Given the description of an element on the screen output the (x, y) to click on. 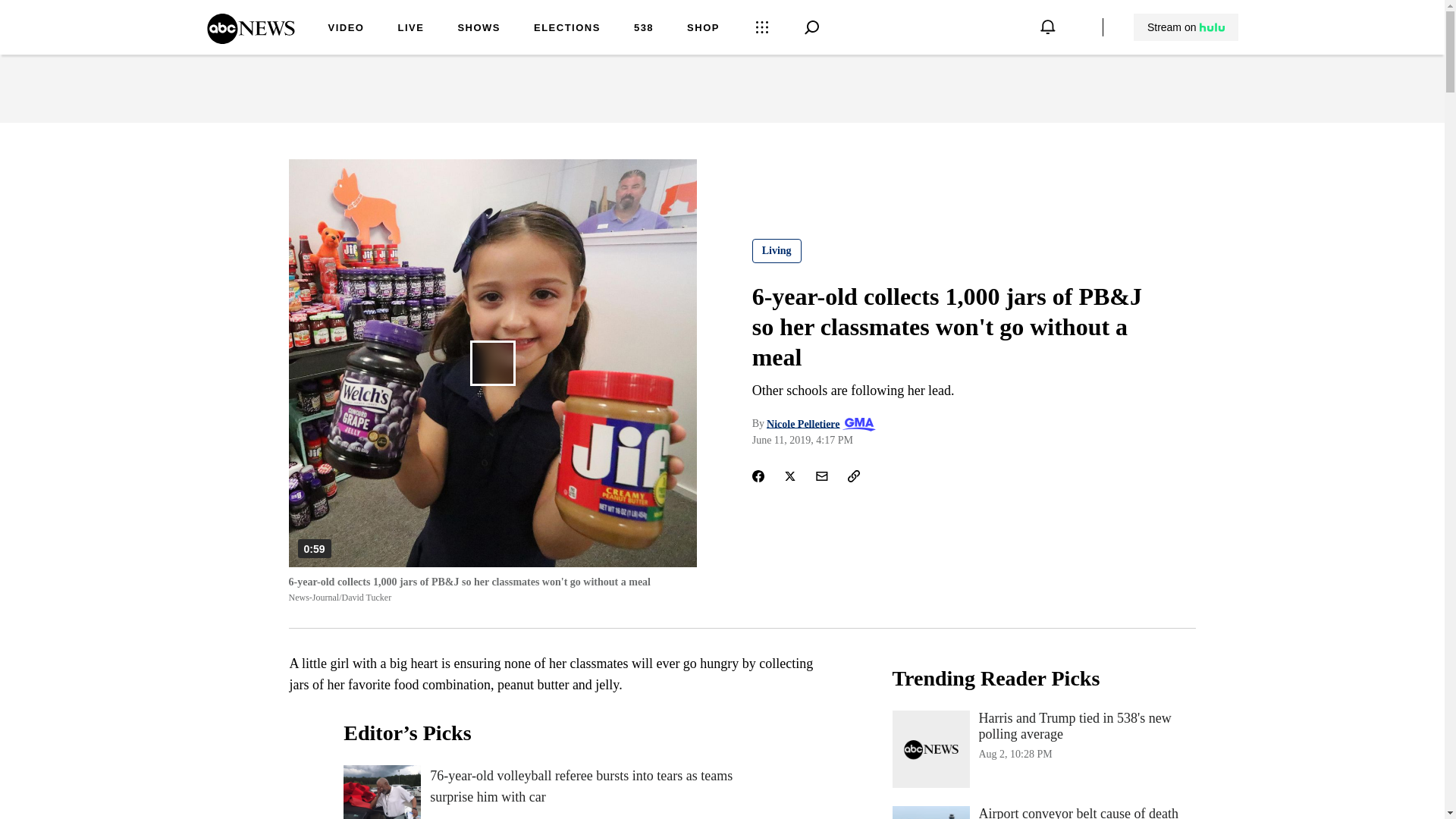
ELECTIONS (566, 28)
VIDEO (345, 28)
Living (777, 250)
Nicole Pelletiere (803, 423)
SHOWS (478, 28)
538 (643, 28)
Stream on (1186, 26)
SHOP (703, 28)
